Given the description of an element on the screen output the (x, y) to click on. 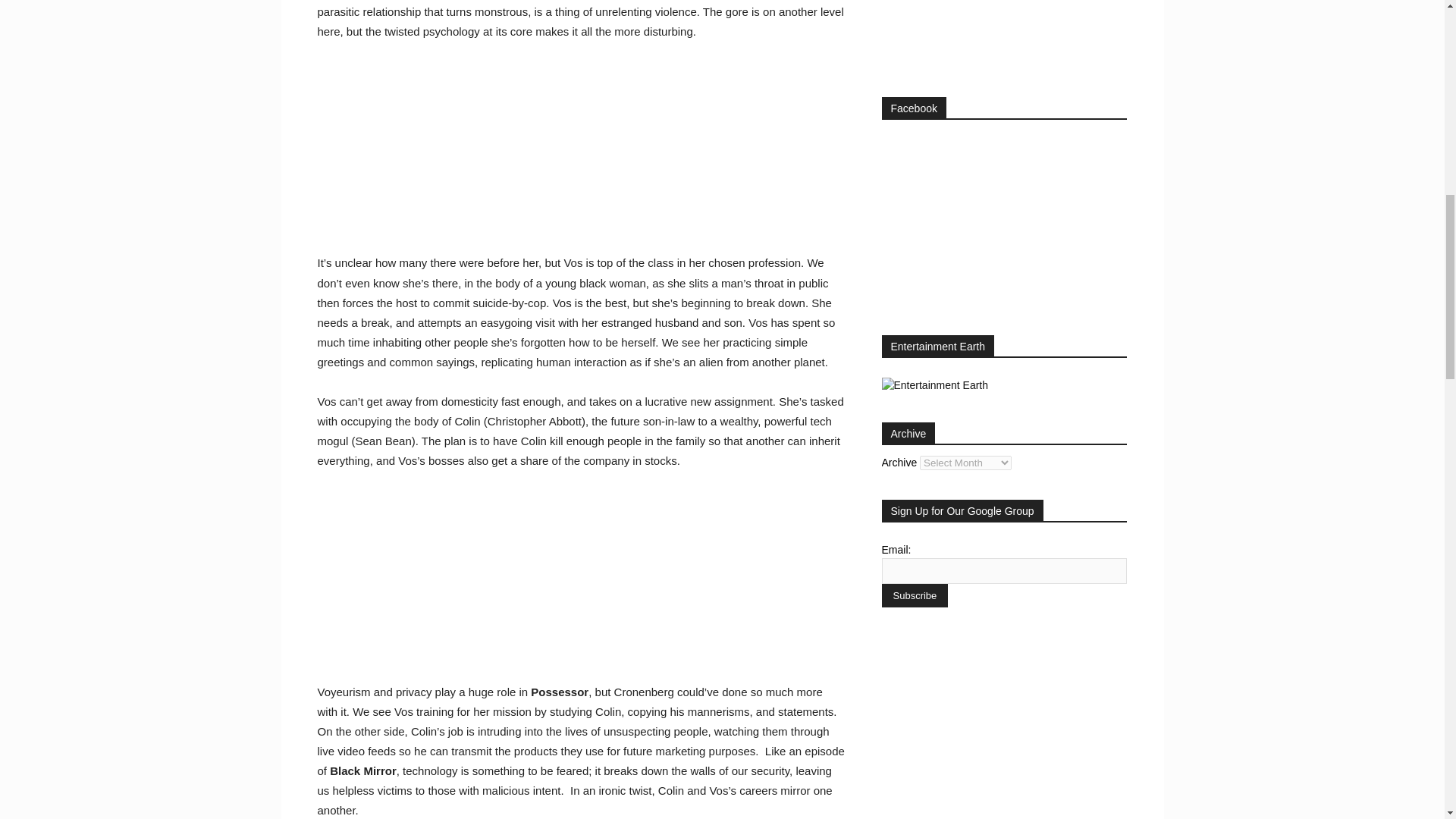
Subscribe (913, 595)
